Given the description of an element on the screen output the (x, y) to click on. 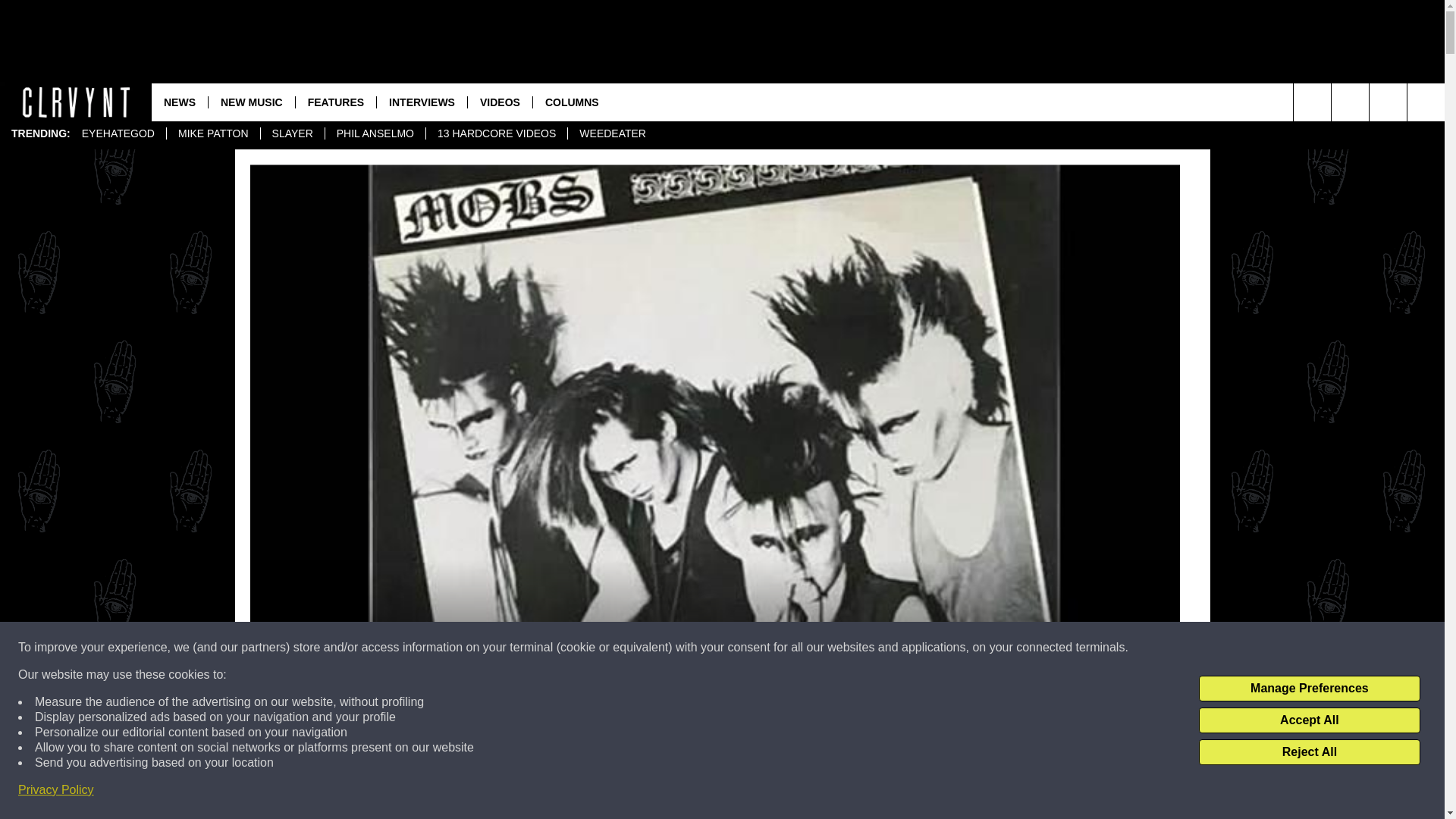
VIDEOS (499, 102)
FEATURES (335, 102)
Manage Preferences (1309, 688)
INTERVIEWS (421, 102)
SHARE ON FACEBOOK (517, 795)
Visit us on Youtube (1350, 102)
SLAYER (292, 133)
MIKE PATTON (212, 133)
COLUMNS (571, 102)
WEEDEATER (612, 133)
Jason Primavera (340, 709)
PHIL ANSELMO (374, 133)
Visit us on Facebook (1388, 102)
Share on Facebook (517, 795)
13 HARDCORE VIDEOS (496, 133)
